Given the description of an element on the screen output the (x, y) to click on. 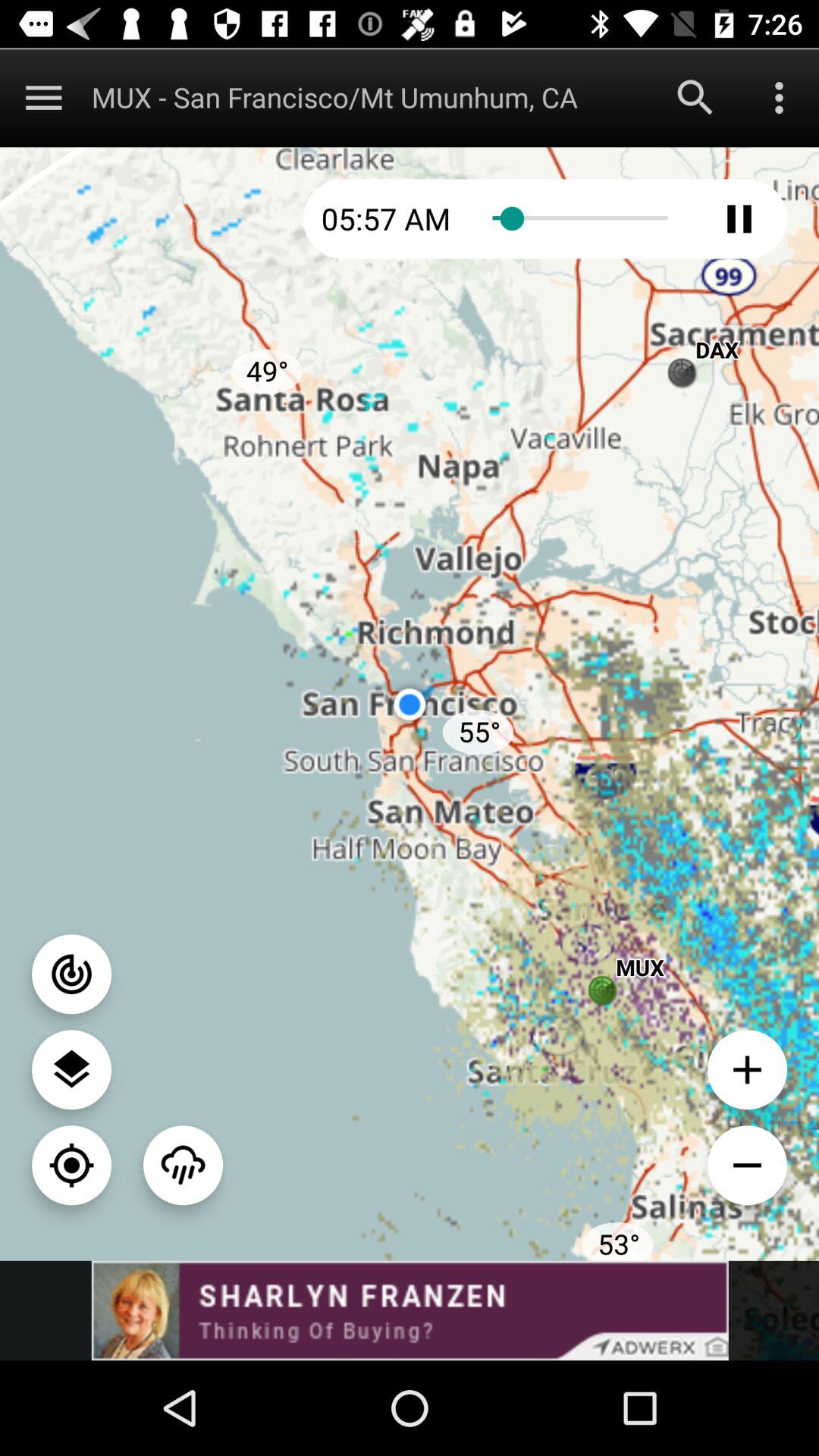
radar option (71, 974)
